Given the description of an element on the screen output the (x, y) to click on. 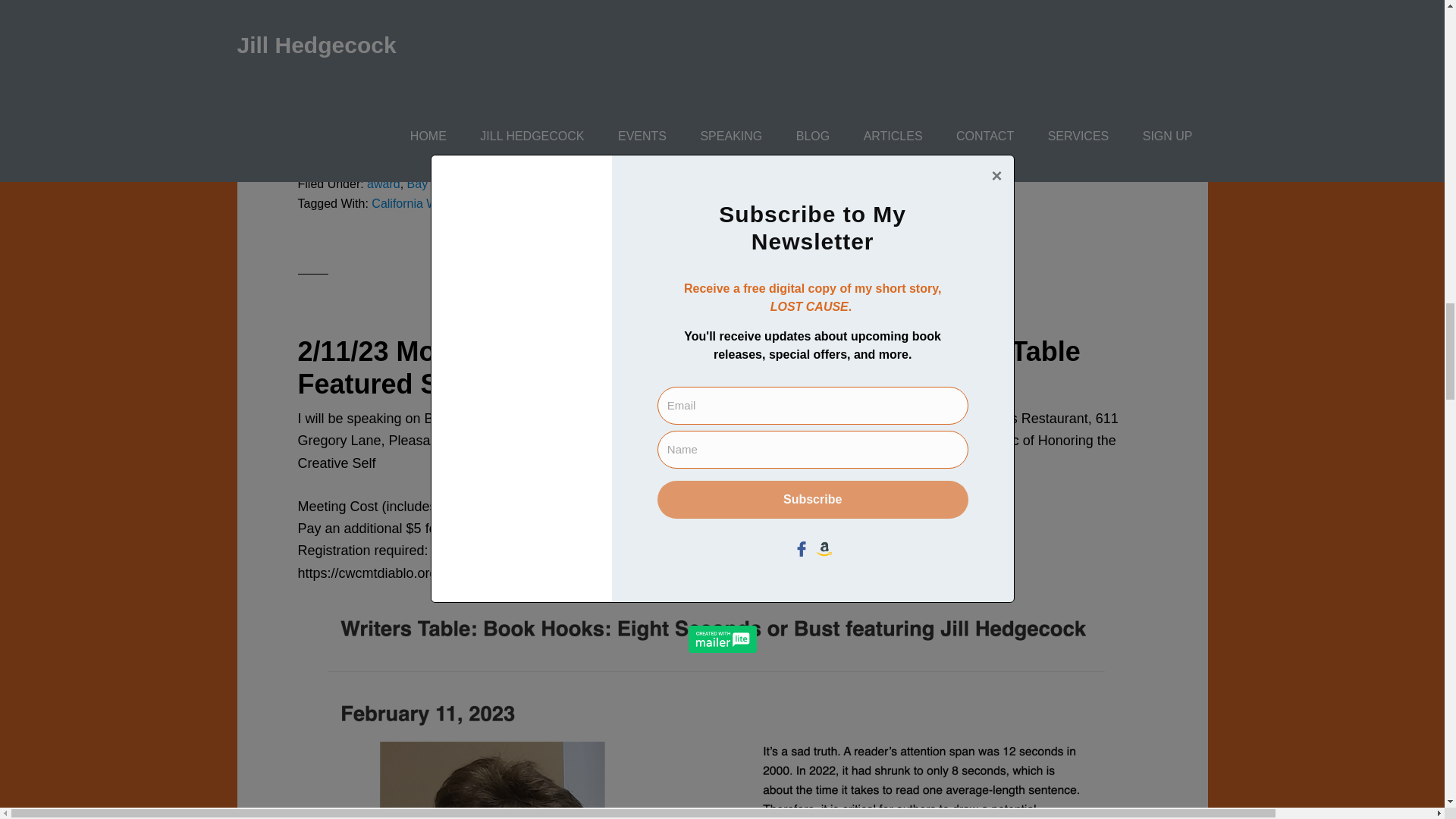
California Writers Club (432, 203)
honoree (521, 203)
Bay Area (432, 183)
Mount Diablo California Writer's Club (762, 203)
Writing (481, 183)
award (383, 183)
Jack London Award (603, 203)
